Given the description of an element on the screen output the (x, y) to click on. 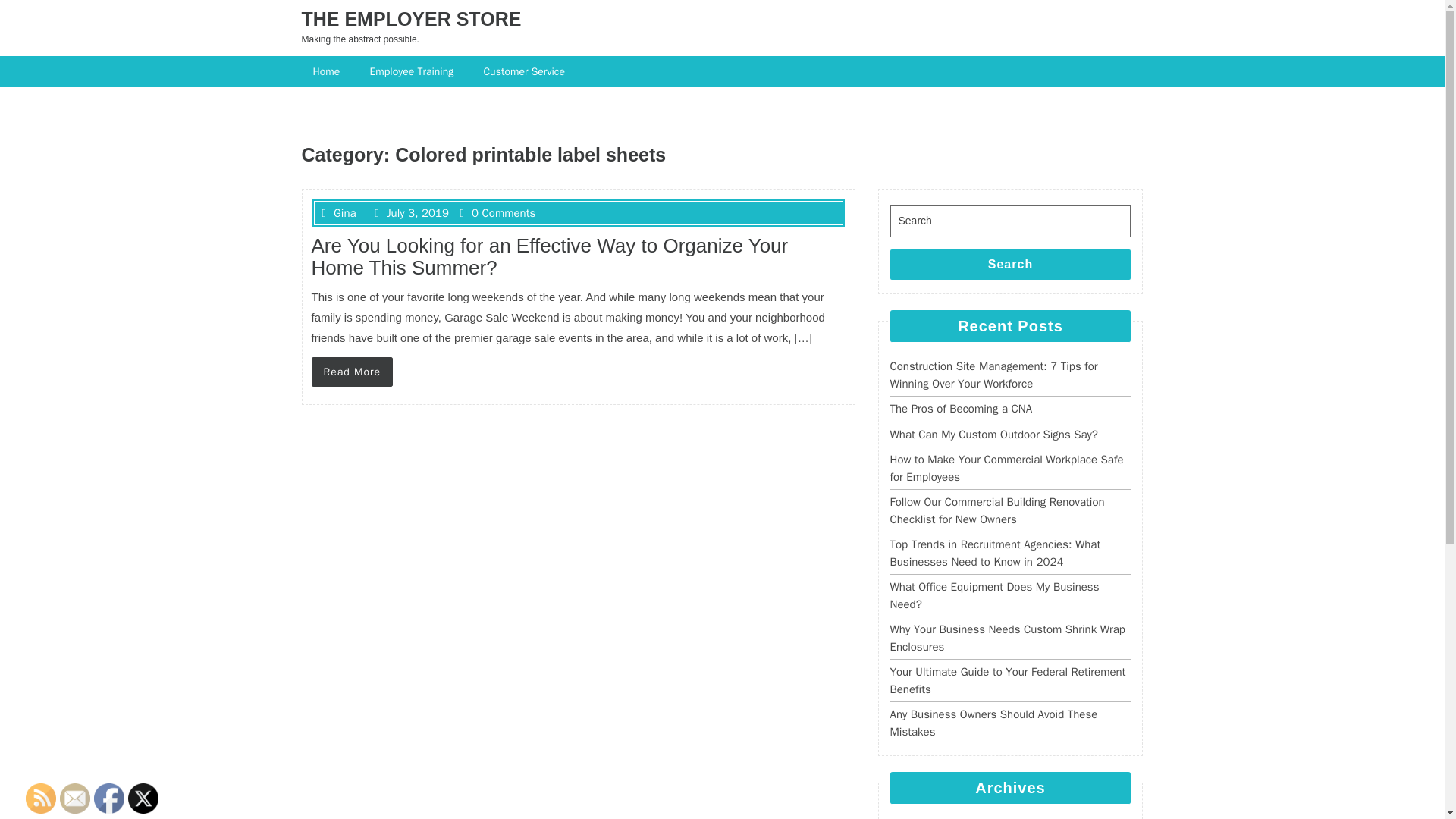
What Office Equipment Does My Business Need? (994, 594)
What Can My Custom Outdoor Signs Say? (993, 434)
Your Ultimate Guide to Your Federal Retirement Benefits (1007, 680)
Facebook (108, 797)
Customer Service (525, 71)
Gina (338, 213)
Employee Training (413, 71)
THE EMPLOYER STORE (411, 18)
0 Comments (497, 213)
